Given the description of an element on the screen output the (x, y) to click on. 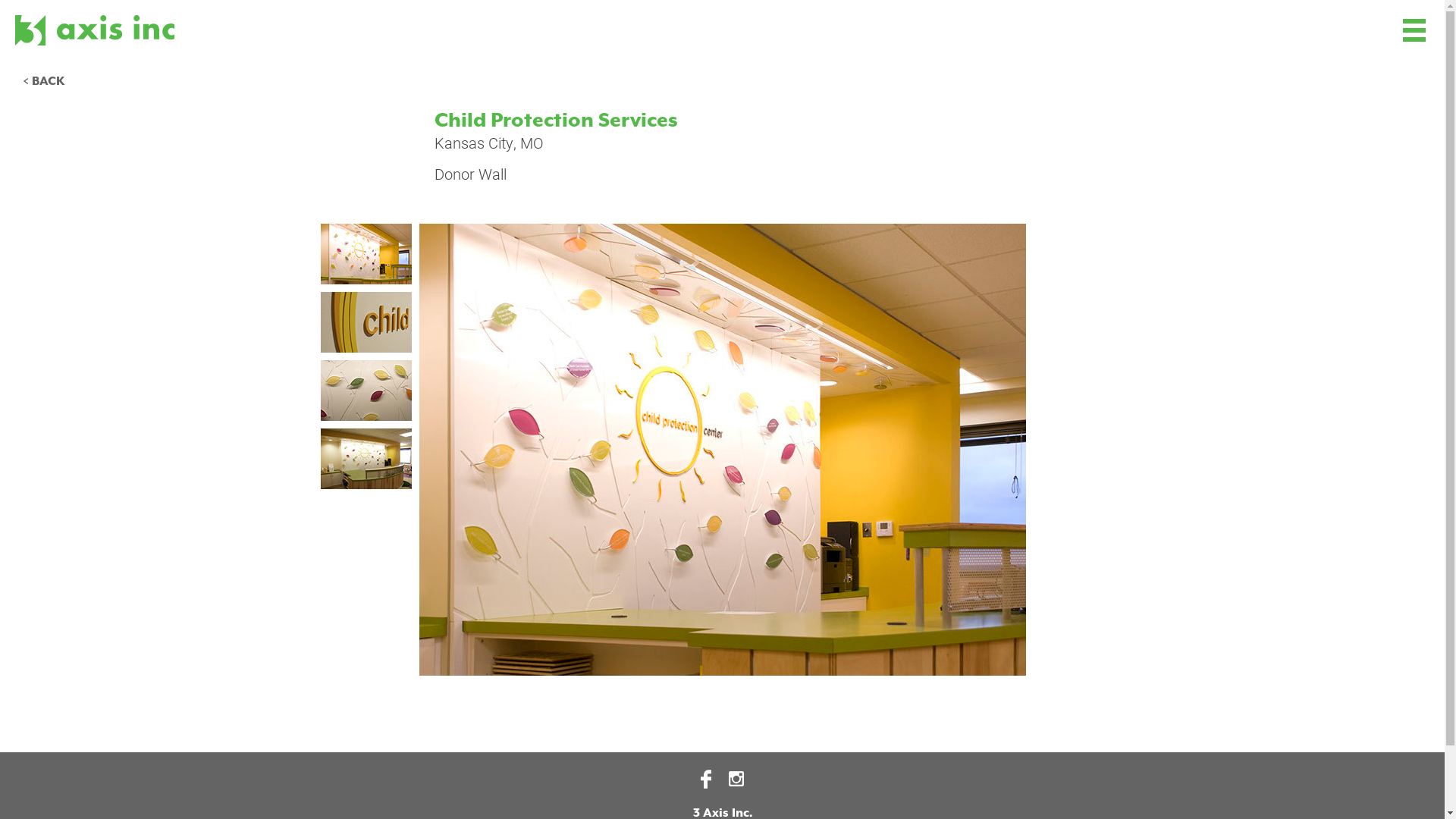
< BACK Element type: text (43, 81)
